Given the description of an element on the screen output the (x, y) to click on. 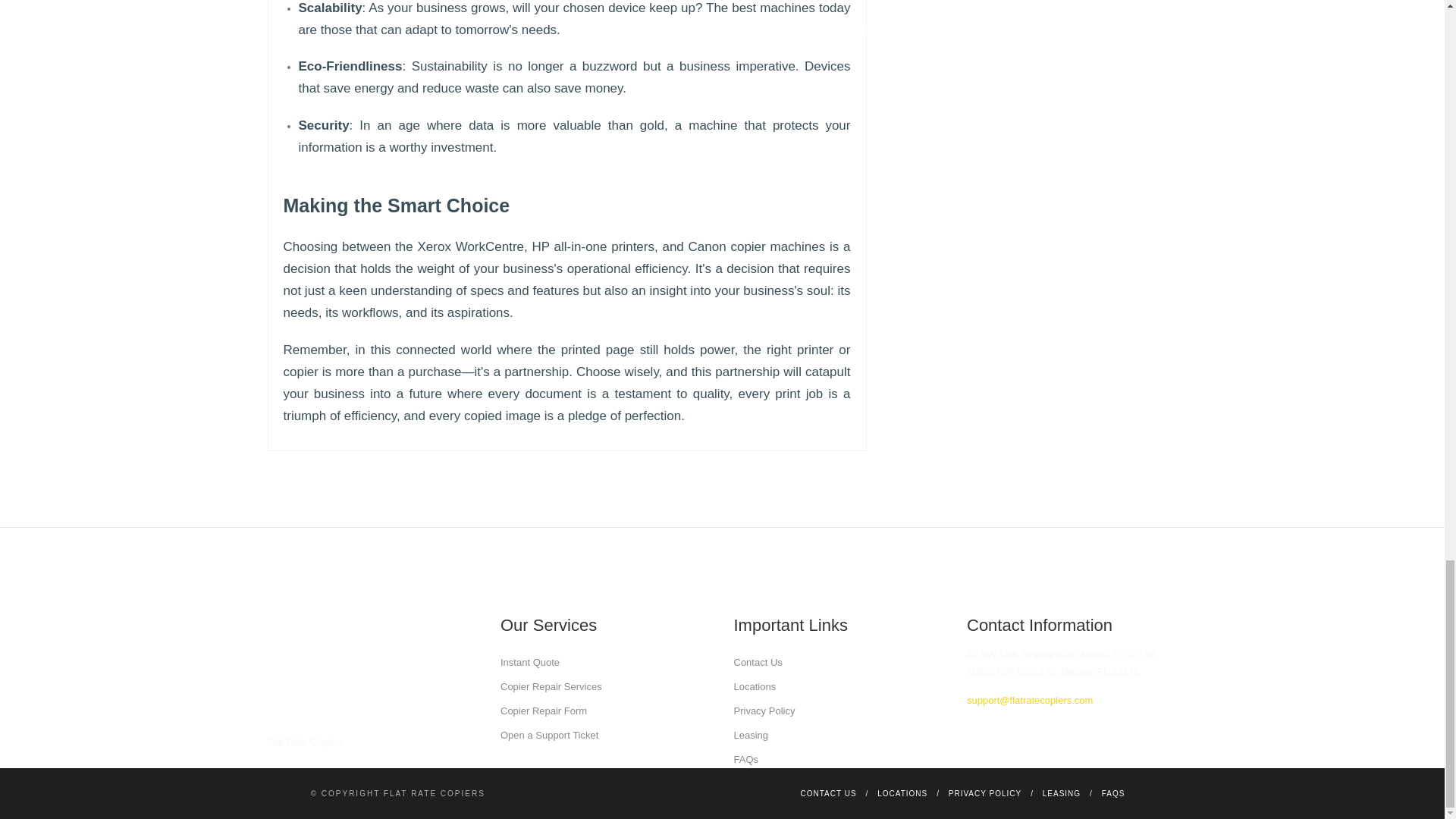
LEASING (1061, 793)
Copier Repair Form (543, 710)
FAQs (745, 758)
Instant Quote (529, 662)
Privacy Policy (763, 710)
LOCATIONS (902, 793)
PRIVACY POLICY (985, 793)
Open a Support Ticket (549, 735)
Contact Us (758, 662)
Leasing (750, 735)
